Given the description of an element on the screen output the (x, y) to click on. 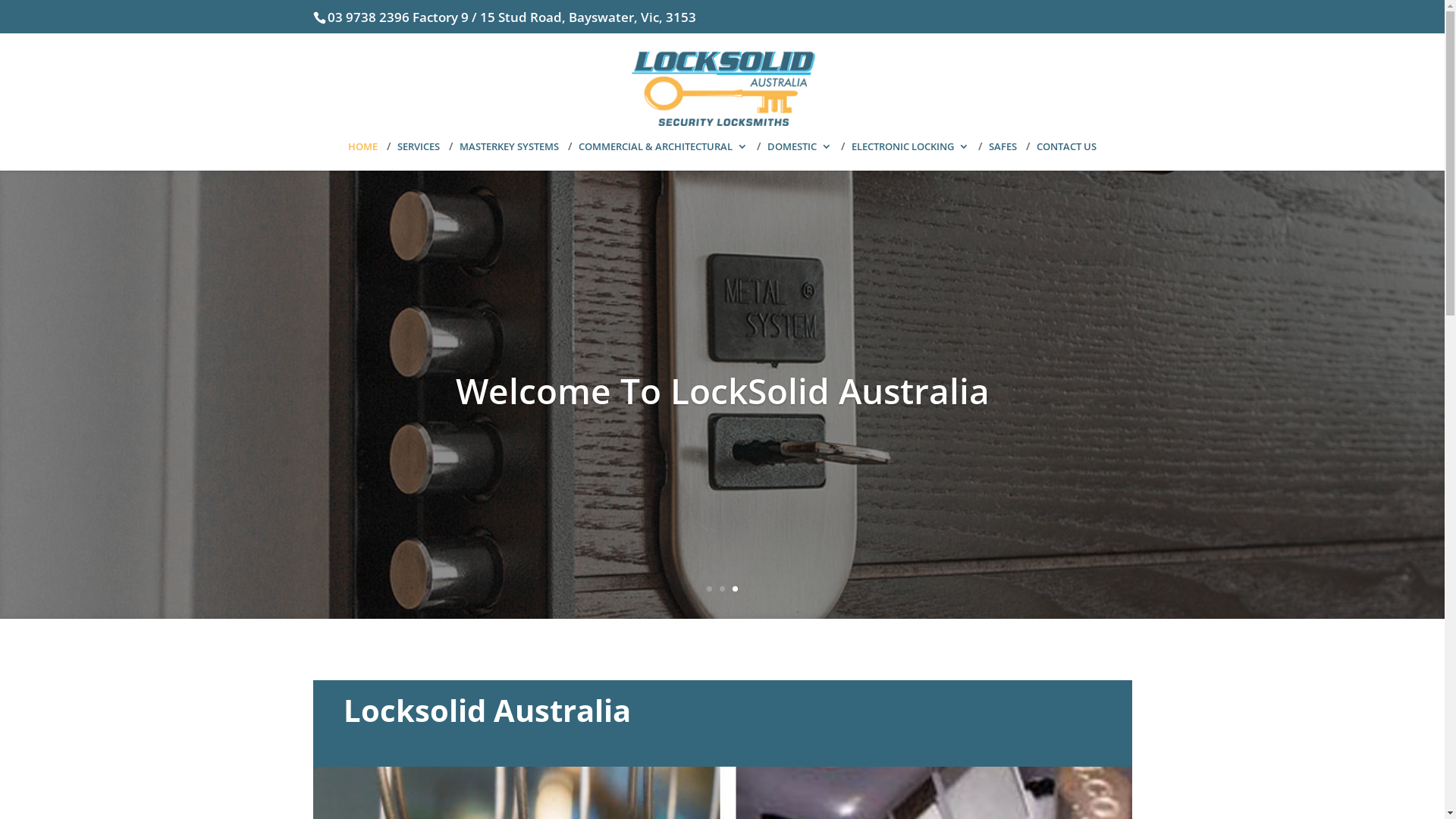
MASTERKEY SYSTEMS Element type: text (508, 155)
ELECTRONIC LOCKING Element type: text (910, 155)
DOMESTIC Element type: text (799, 155)
SAFES Element type: text (1002, 155)
3 Element type: text (734, 588)
COMMERCIAL & ARCHITECTURAL Element type: text (662, 155)
SERVICES Element type: text (418, 155)
HOME Element type: text (362, 155)
CONTACT US Element type: text (1066, 155)
1 Element type: text (709, 588)
2 Element type: text (721, 588)
